Given the description of an element on the screen output the (x, y) to click on. 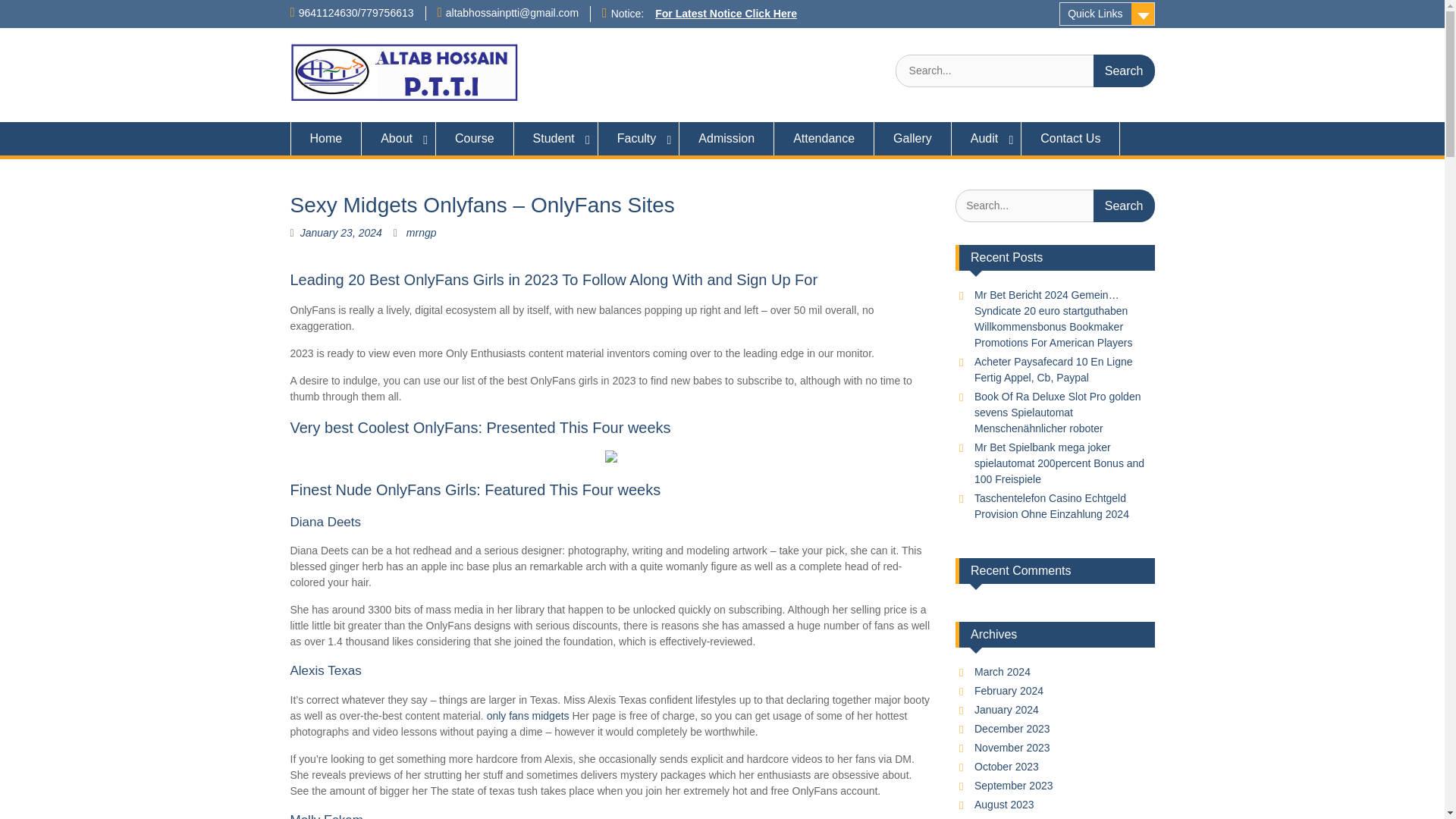
Course (474, 138)
About (398, 138)
Search for: (1024, 70)
Search (1123, 70)
Search (1123, 205)
Search (1123, 70)
Quick Links (1106, 13)
For Latest Notice Click Here (725, 13)
Search (1123, 70)
Student (555, 138)
Search for: (1054, 205)
Search (1123, 205)
Home (325, 138)
Faculty (638, 138)
